Given the description of an element on the screen output the (x, y) to click on. 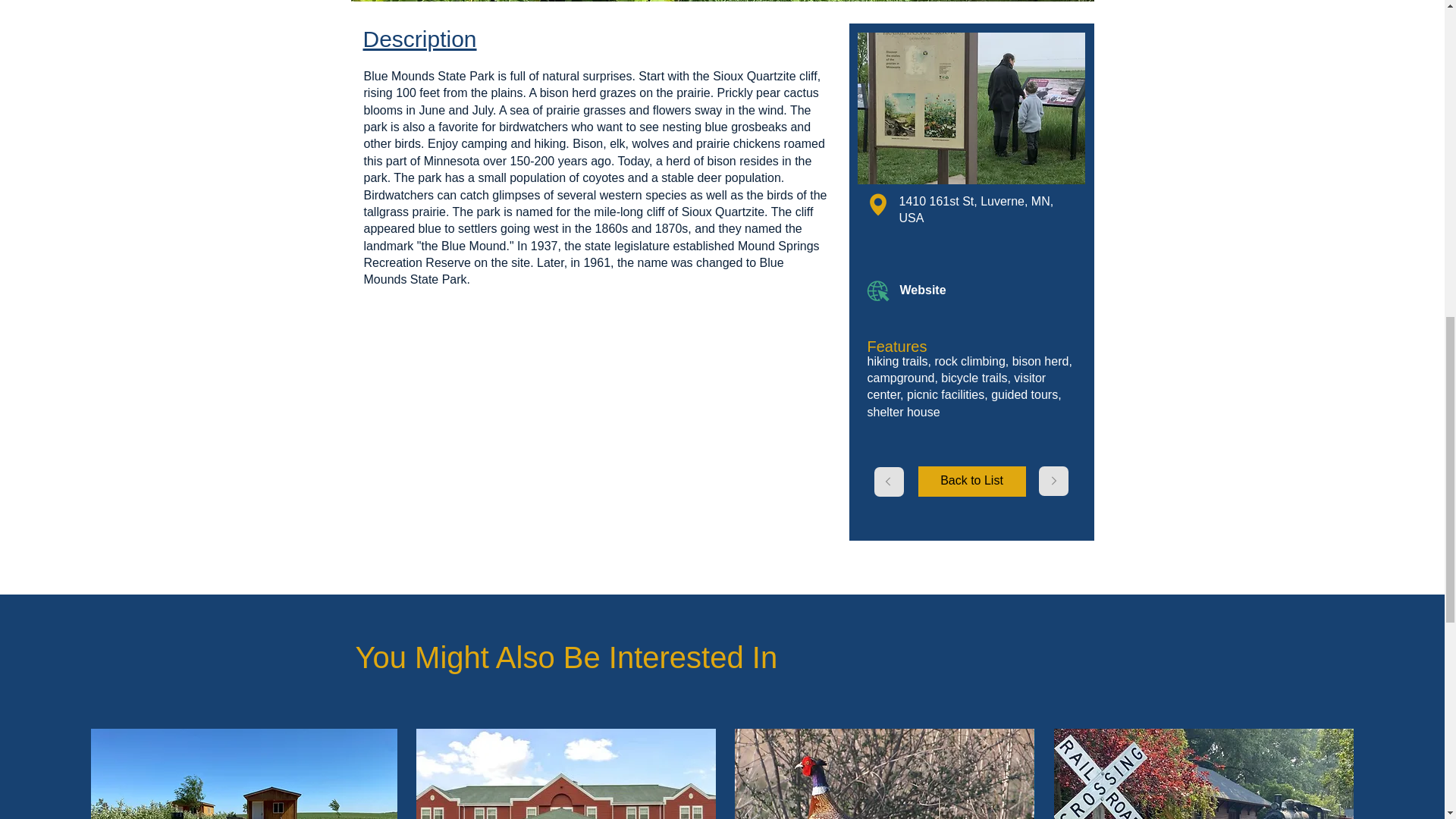
Back to List (971, 481)
Website (953, 291)
